Given the description of an element on the screen output the (x, y) to click on. 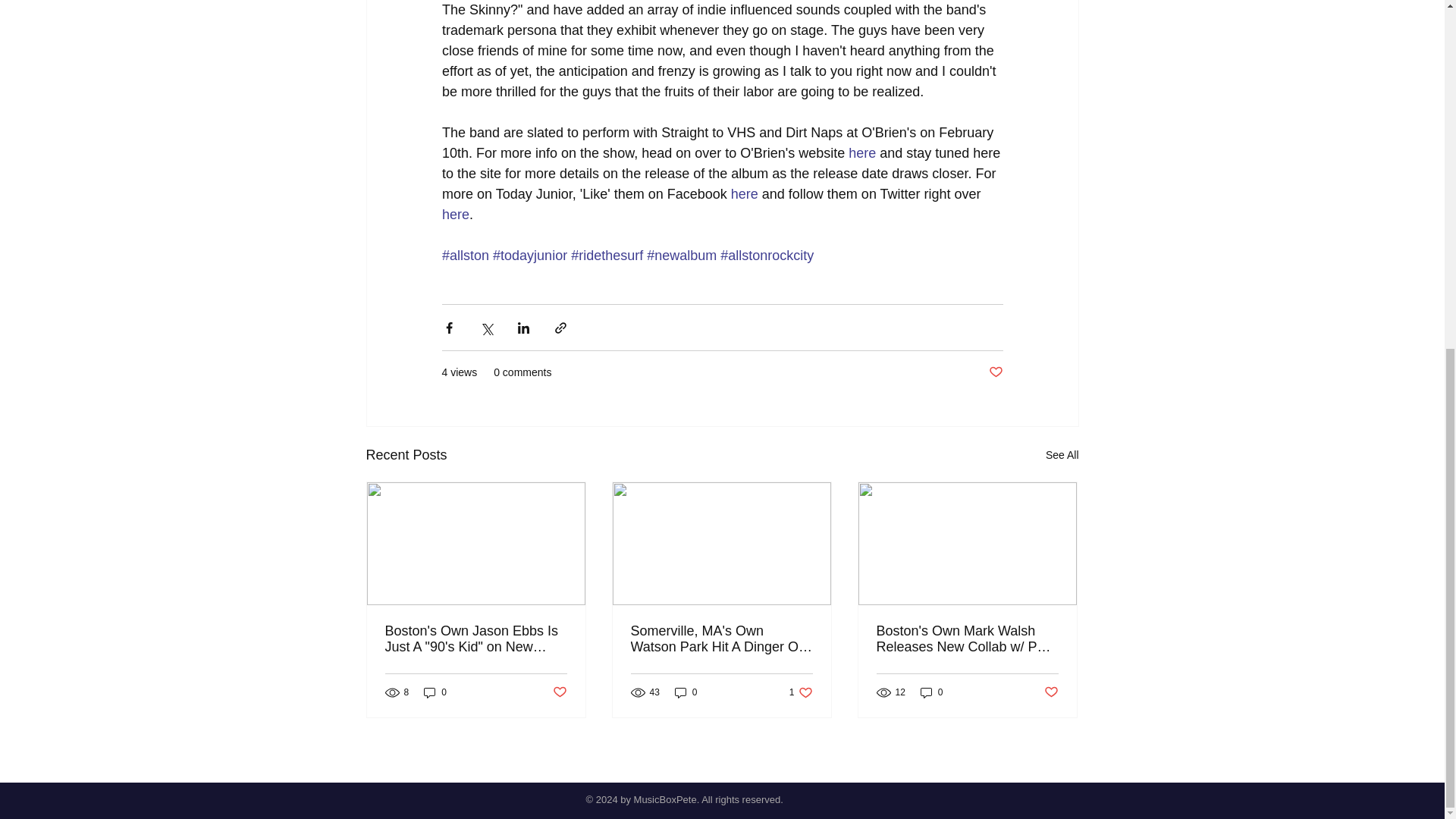
here (862, 152)
Post not marked as liked (558, 692)
here (454, 214)
0 (435, 691)
0 (685, 691)
Post not marked as liked (995, 372)
Post not marked as liked (1050, 692)
See All (1061, 455)
0 (800, 691)
here (931, 691)
